Given the description of an element on the screen output the (x, y) to click on. 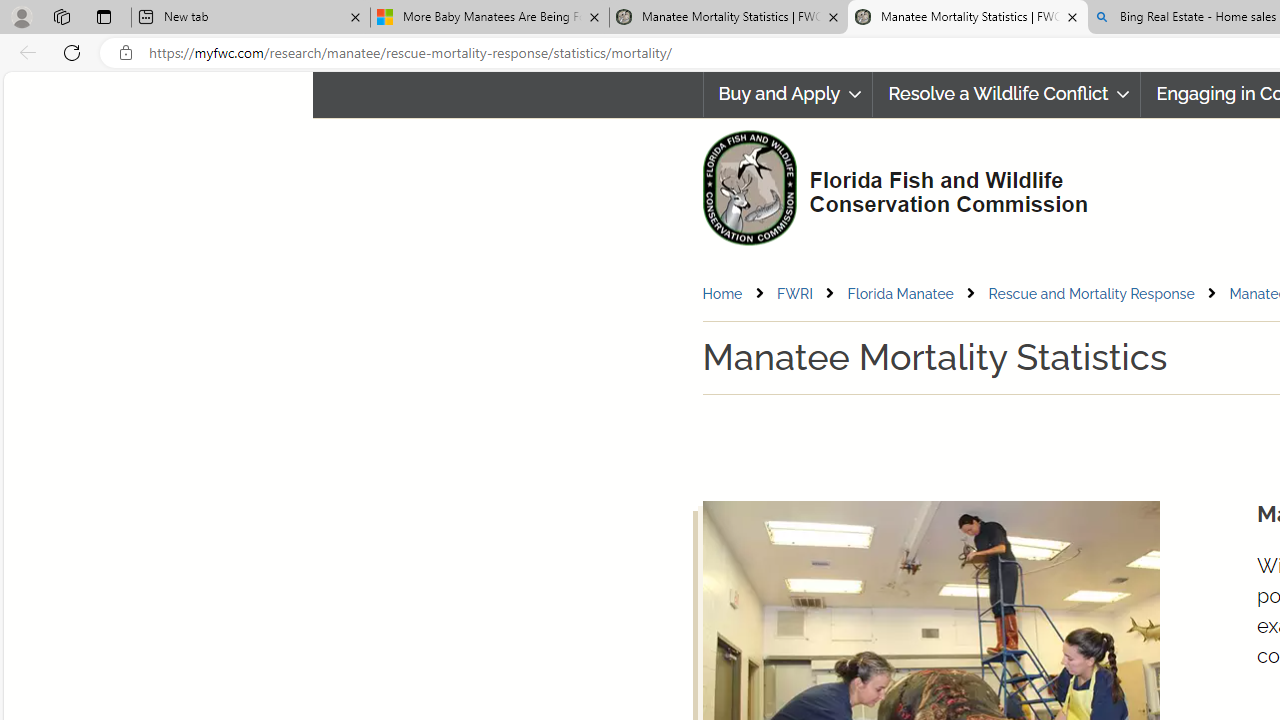
Rescue and Mortality Response (1091, 293)
FWRI (794, 293)
Florida Manatee (900, 293)
Resolve a Wildlife Conflict (1006, 94)
Buy and Apply (787, 94)
Buy and Apply (787, 94)
FWC Logo (749, 187)
Rescue and Mortality Response (1107, 293)
Home (721, 293)
Resolve a Wildlife Conflict (1006, 94)
FWRI (810, 293)
